Given the description of an element on the screen output the (x, y) to click on. 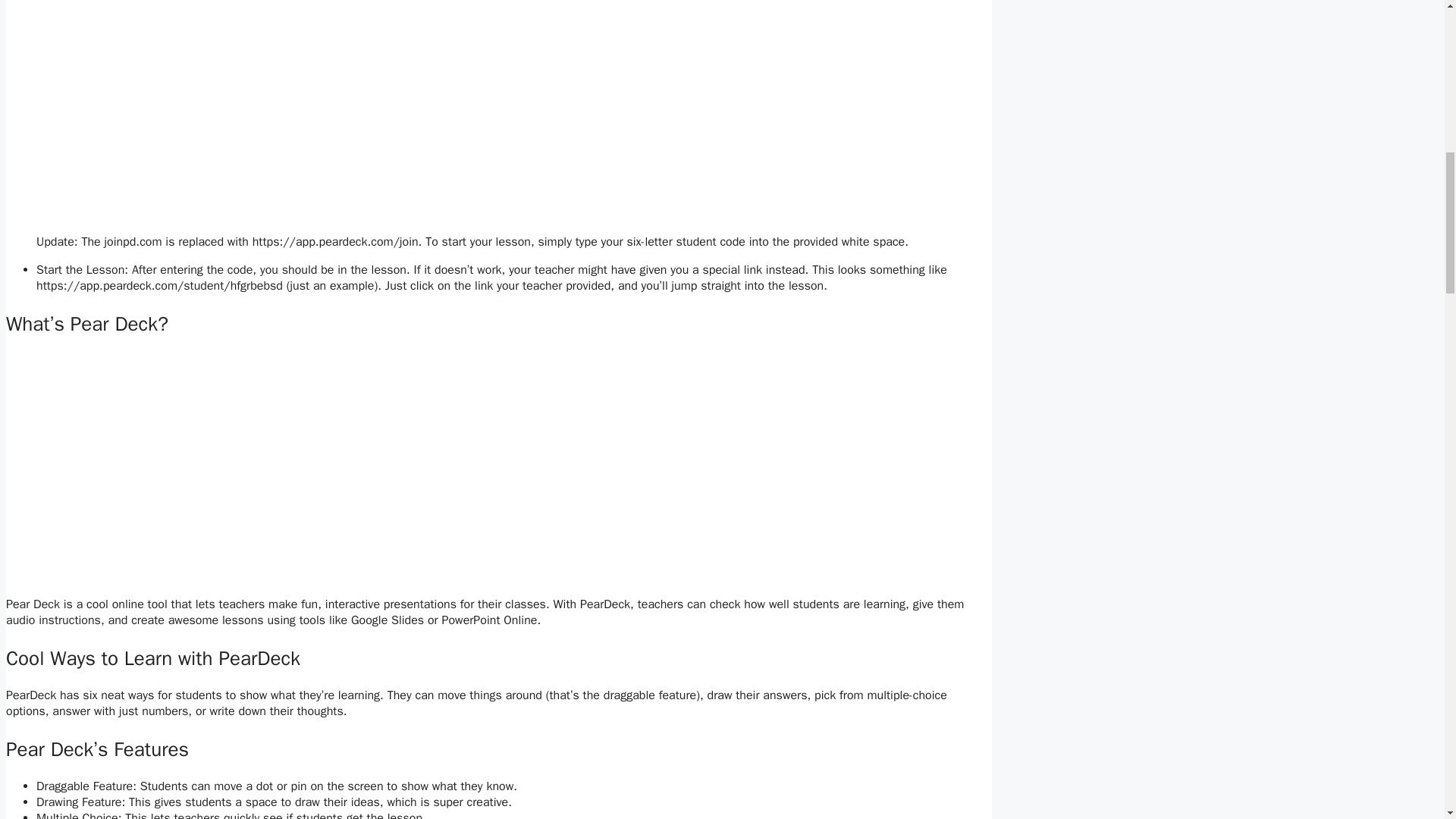
Scroll back to top (1406, 720)
